Given the description of an element on the screen output the (x, y) to click on. 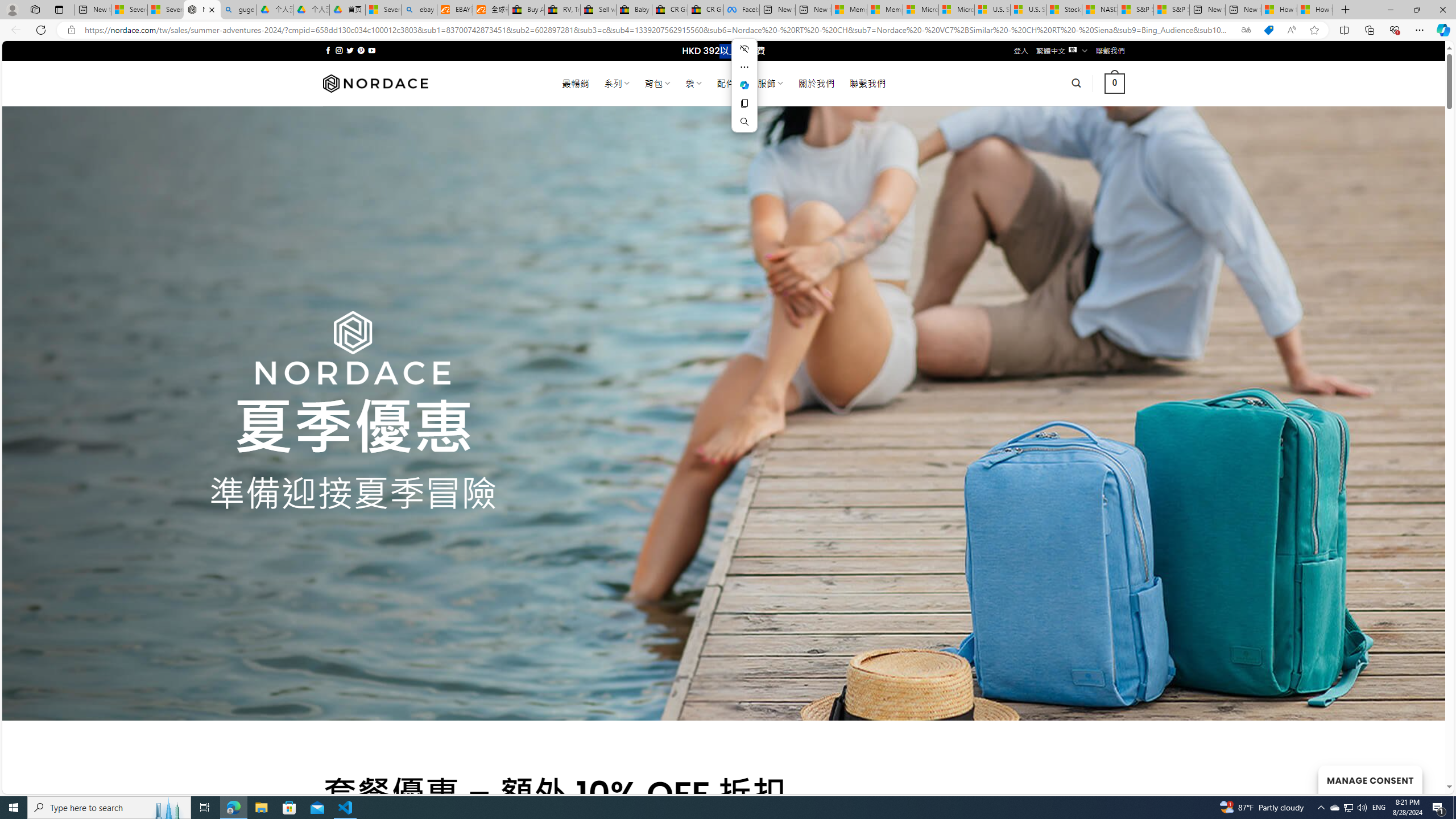
MANAGE CONSENT (1369, 779)
Hide menu (744, 49)
